Given the description of an element on the screen output the (x, y) to click on. 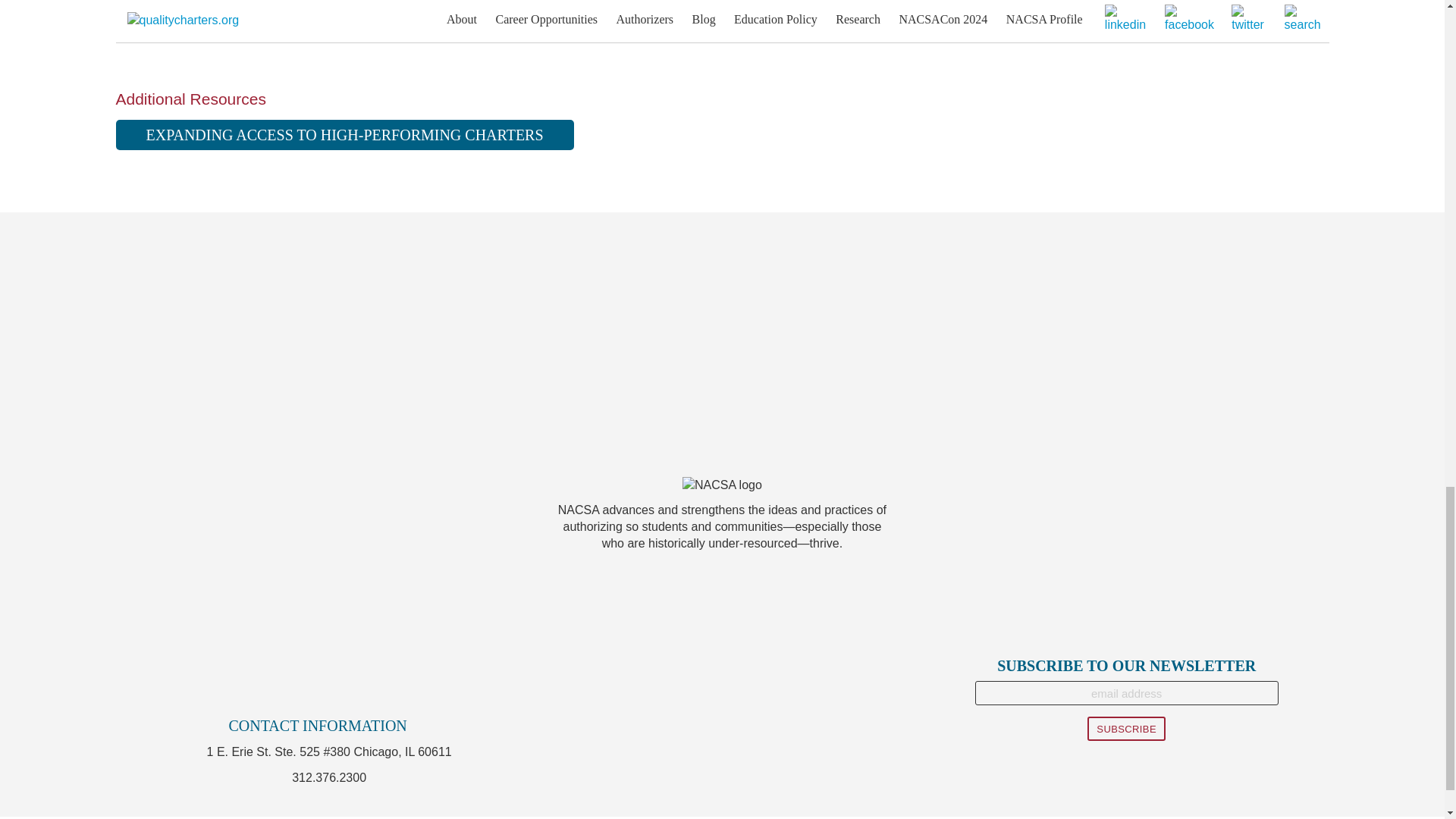
EXPANDING ACCESS TO HIGH-PERFORMING CHARTERS (344, 134)
Subscribe (1126, 728)
